Given the description of an element on the screen output the (x, y) to click on. 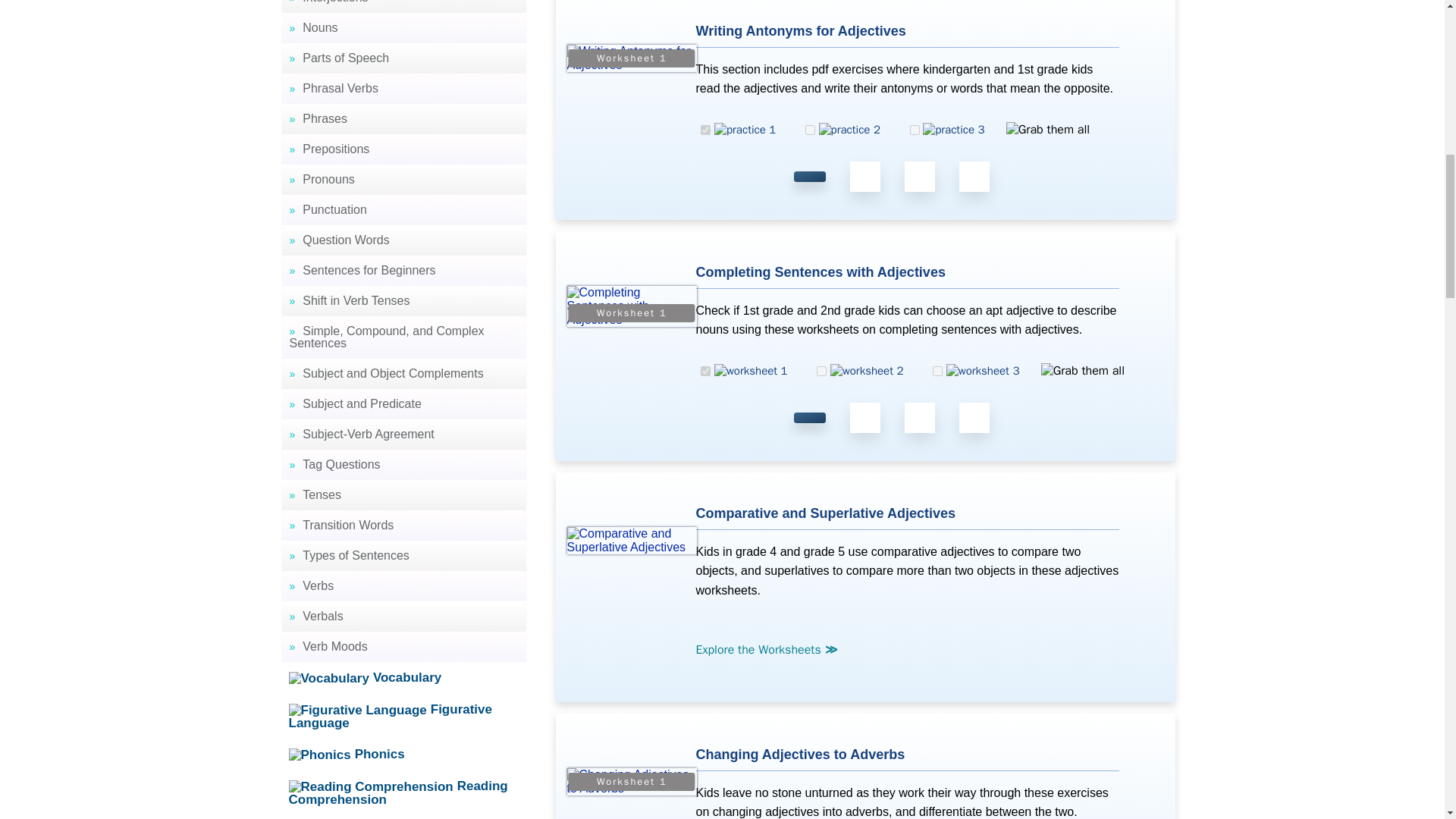
on (937, 370)
on (705, 370)
on (915, 130)
on (821, 370)
on (705, 130)
on (810, 130)
